Given the description of an element on the screen output the (x, y) to click on. 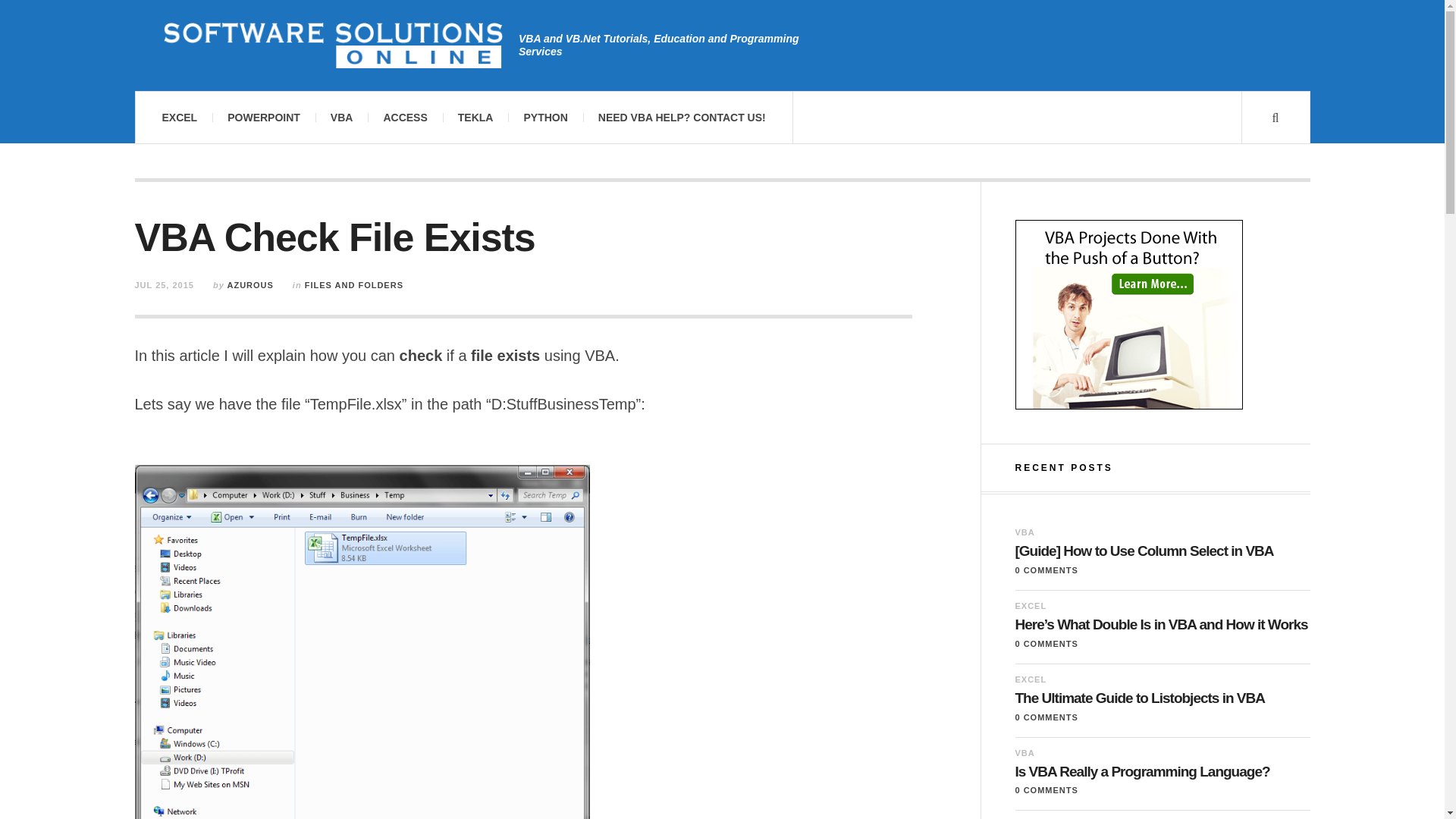
0 COMMENTS (1045, 716)
Is VBA Really a Programming Language? (1161, 772)
View all posts in VBA (1023, 532)
FILES AND FOLDERS (353, 284)
EXCEL (1030, 605)
TEKLA (475, 117)
PYTHON (545, 117)
VBA (1023, 532)
EXCEL (179, 117)
View all posts in VBA (1023, 752)
AZUROUS (250, 284)
NEED VBA HELP? CONTACT US! (681, 117)
0 COMMENTS (1045, 569)
View all posts in Excel (1030, 678)
View all posts in Excel (1030, 605)
